Given the description of an element on the screen output the (x, y) to click on. 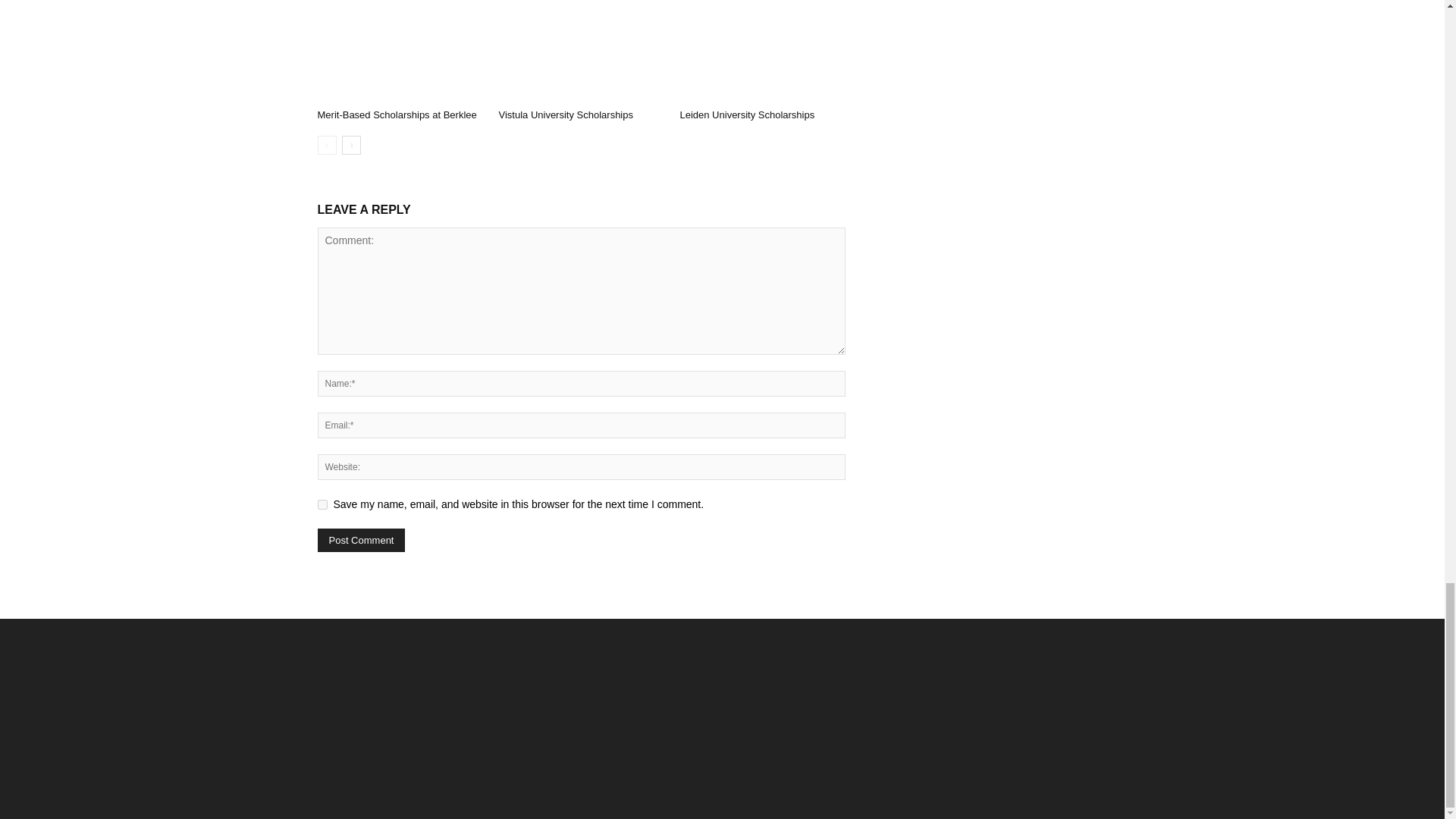
Merit-Based Scholarships at Berklee (396, 114)
Post Comment (360, 540)
yes (321, 504)
Vistula University Scholarships (565, 114)
Leiden University Scholarships (746, 114)
Vistula University Scholarships (580, 51)
Merit-Based Scholarships at Berklee (399, 51)
Leiden University Scholarships (761, 51)
